Given the description of an element on the screen output the (x, y) to click on. 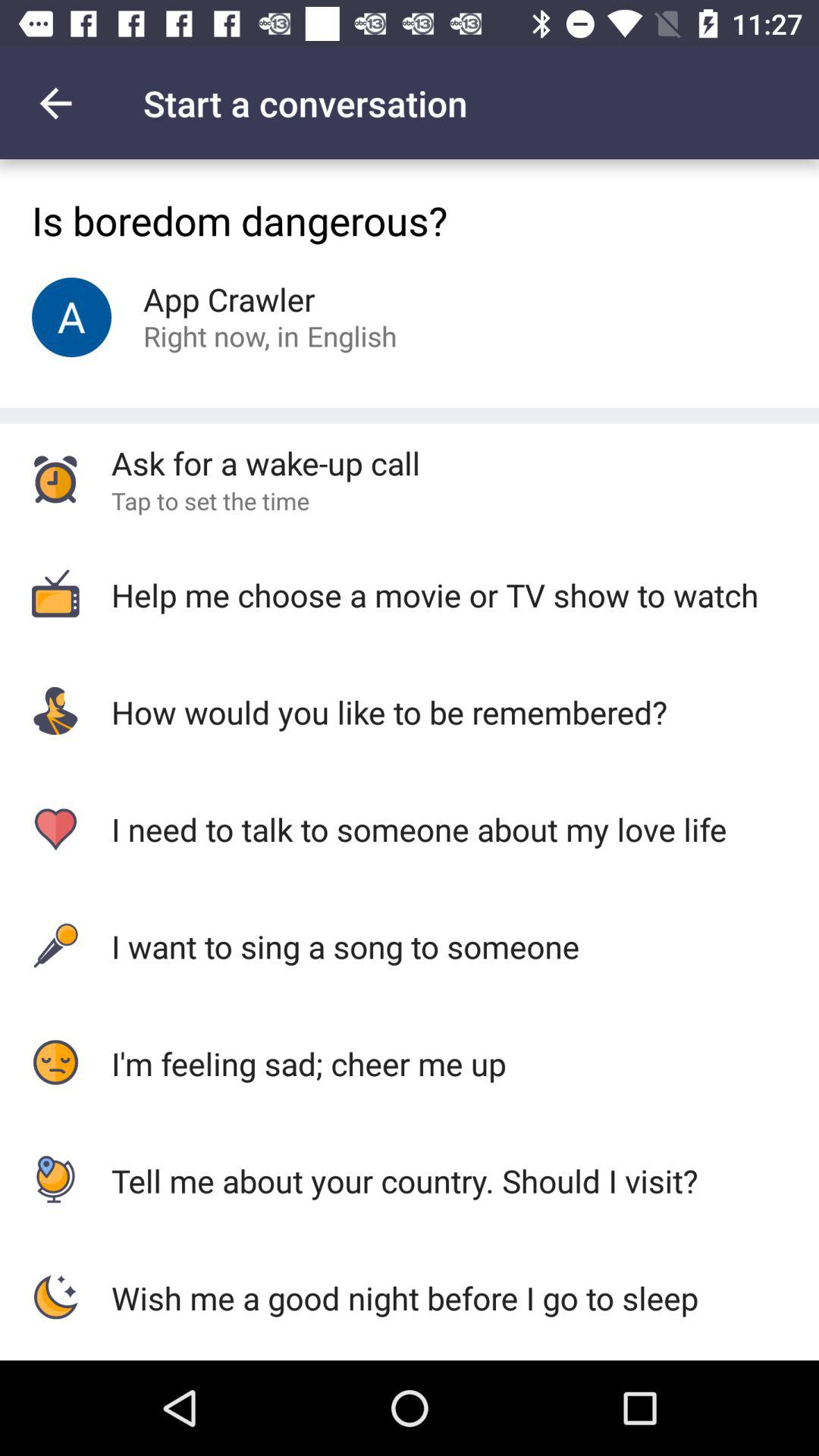
choose icon below is boredom dangerous? item (351, 336)
